Given the description of an element on the screen output the (x, y) to click on. 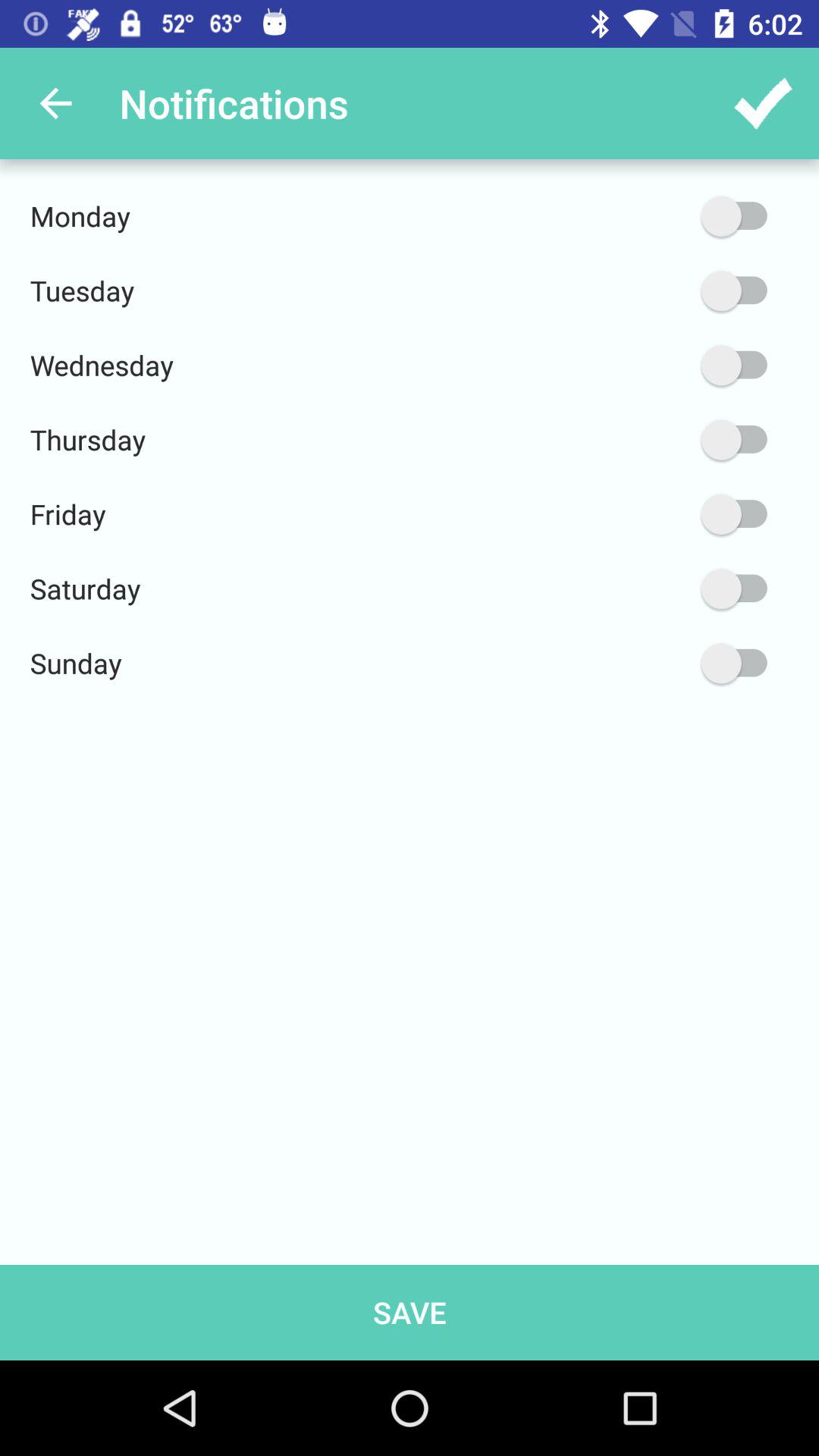
launch item next to monday item (661, 216)
